Given the description of an element on the screen output the (x, y) to click on. 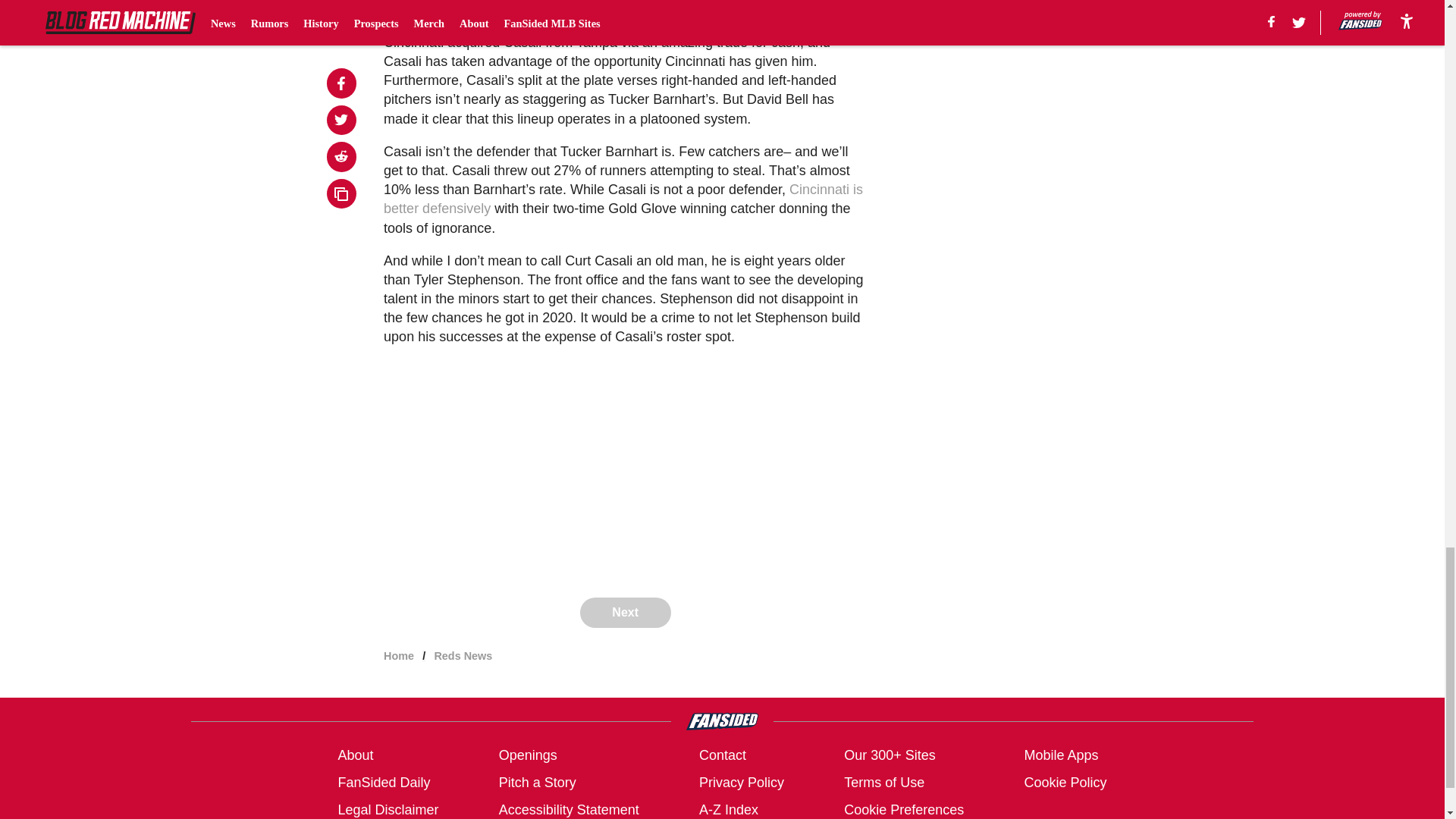
Cincinnati is better defensively (623, 198)
